Given the description of an element on the screen output the (x, y) to click on. 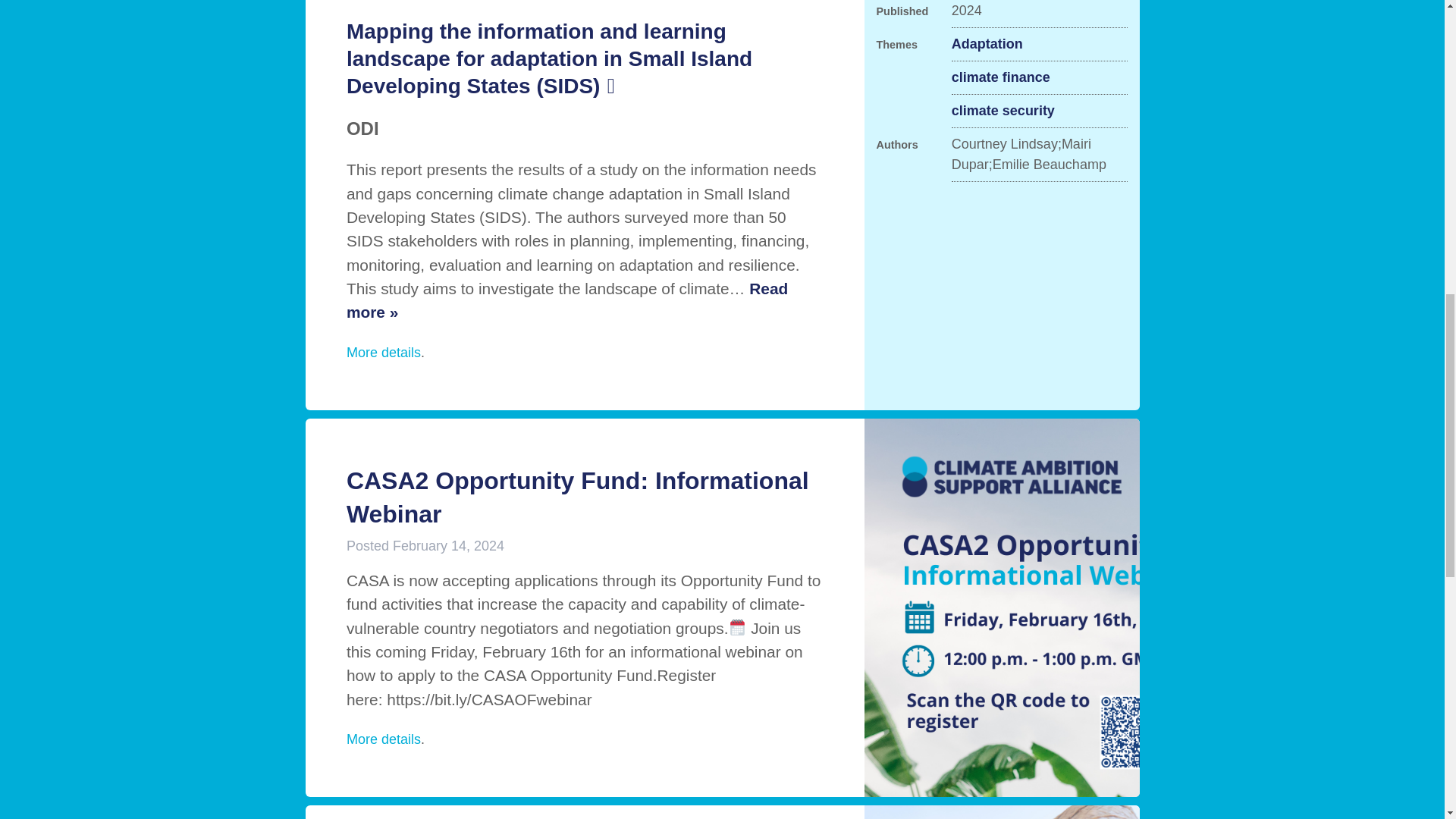
More details (383, 739)
Adaptation (987, 44)
climate finance (1000, 77)
More details (383, 352)
CASA2 Opportunity Fund: Informational Webinar (577, 497)
CASA2 Opportunity Fund: Informational Webinar (577, 497)
climate security (1003, 110)
